Given the description of an element on the screen output the (x, y) to click on. 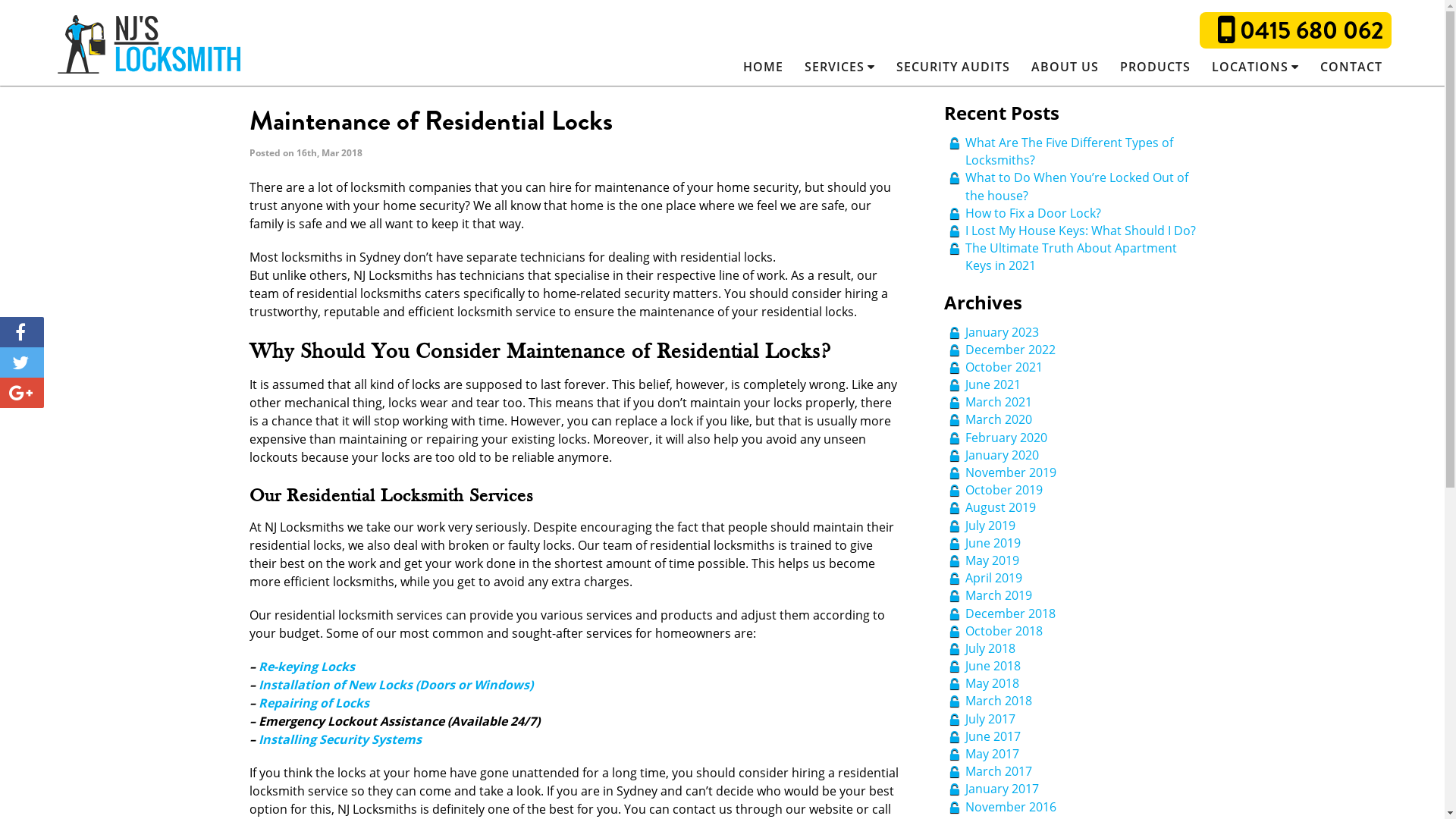
December 2018 Element type: text (1009, 613)
July 2018 Element type: text (989, 648)
August 2019 Element type: text (999, 506)
October 2021 Element type: text (1002, 366)
How to Fix a Door Lock?  Element type: text (1033, 212)
Residential Locksmiths Element type: text (888, 93)
ABOUT US Element type: text (1064, 66)
Re-keying Locks Element type: text (305, 666)
Tweet Element type: text (21, 362)
January 2020 Element type: text (1001, 454)
NJ's Locksmiths Sydney Element type: hover (148, 45)
October 2018 Element type: text (1002, 630)
The Ultimate Truth About Apartment Keys in 2021 Element type: text (1070, 256)
July 2019 Element type: text (989, 525)
March 2019 Element type: text (997, 594)
December 2022 Element type: text (1009, 349)
Locksmith services Element type: hover (148, 44)
January 2017 Element type: text (1001, 788)
November 2016 Element type: text (1009, 806)
March 2017 Element type: text (997, 770)
June 2018 Element type: text (991, 665)
November 2019 Element type: text (1009, 472)
March 2020 Element type: text (997, 419)
PRODUCTS Element type: text (1154, 66)
CONTACT Element type: text (1351, 66)
May 2017 Element type: text (991, 753)
Share Element type: text (21, 331)
February 2020 Element type: text (1005, 437)
Locksmith North Sydney Element type: text (1312, 93)
SERVICES Element type: text (830, 66)
June 2021 Element type: text (991, 384)
March 2021 Element type: text (997, 401)
May 2019 Element type: text (991, 560)
Share Element type: text (21, 392)
Installing Security Systems Element type: text (338, 739)
LOCATIONS Element type: text (1245, 66)
April 2019 Element type: text (992, 577)
What Are The Five Different Types of Locksmiths? Element type: text (1068, 151)
January 2023 Element type: text (1001, 331)
June 2017 Element type: text (991, 736)
0415 680 062 Element type: text (1300, 30)
March 2018 Element type: text (997, 700)
June 2019 Element type: text (991, 542)
I Lost My House Keys: What Should I Do? Element type: text (1079, 230)
October 2019 Element type: text (1002, 489)
Installation of New Locks (Doors or Windows) Element type: text (394, 684)
SECURITY AUDITS Element type: text (953, 66)
Repairing of Locks Element type: text (312, 702)
HOME Element type: text (763, 66)
July 2017 Element type: text (989, 718)
May 2018 Element type: text (991, 682)
